Given the description of an element on the screen output the (x, y) to click on. 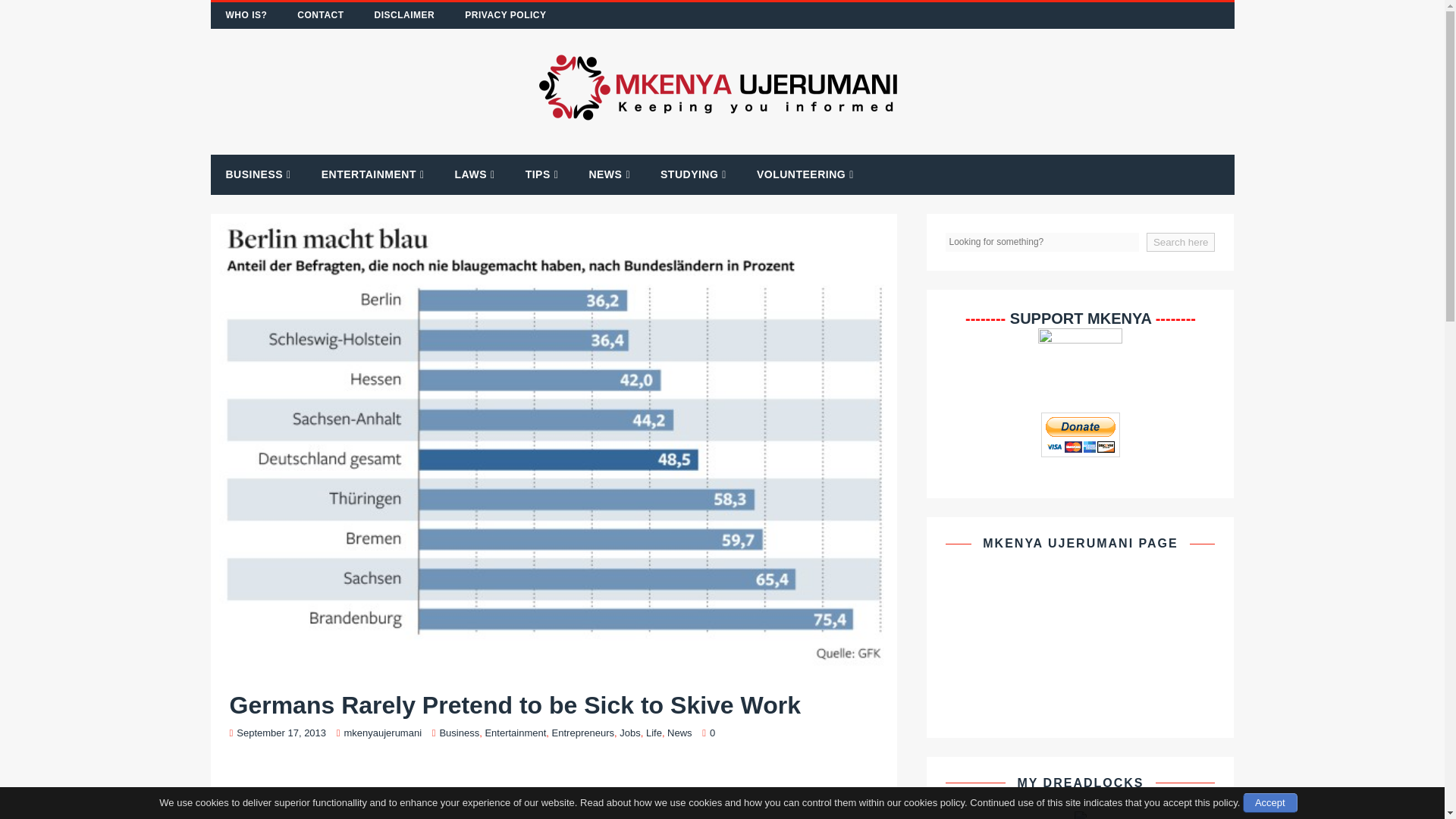
WHO IS? (246, 15)
DISCLAIMER (404, 15)
Advertisement (552, 789)
PRIVACY POLICY (504, 15)
CONTACT (320, 15)
PayPal - The safer, easier way to pay online! (1080, 434)
